Given the description of an element on the screen output the (x, y) to click on. 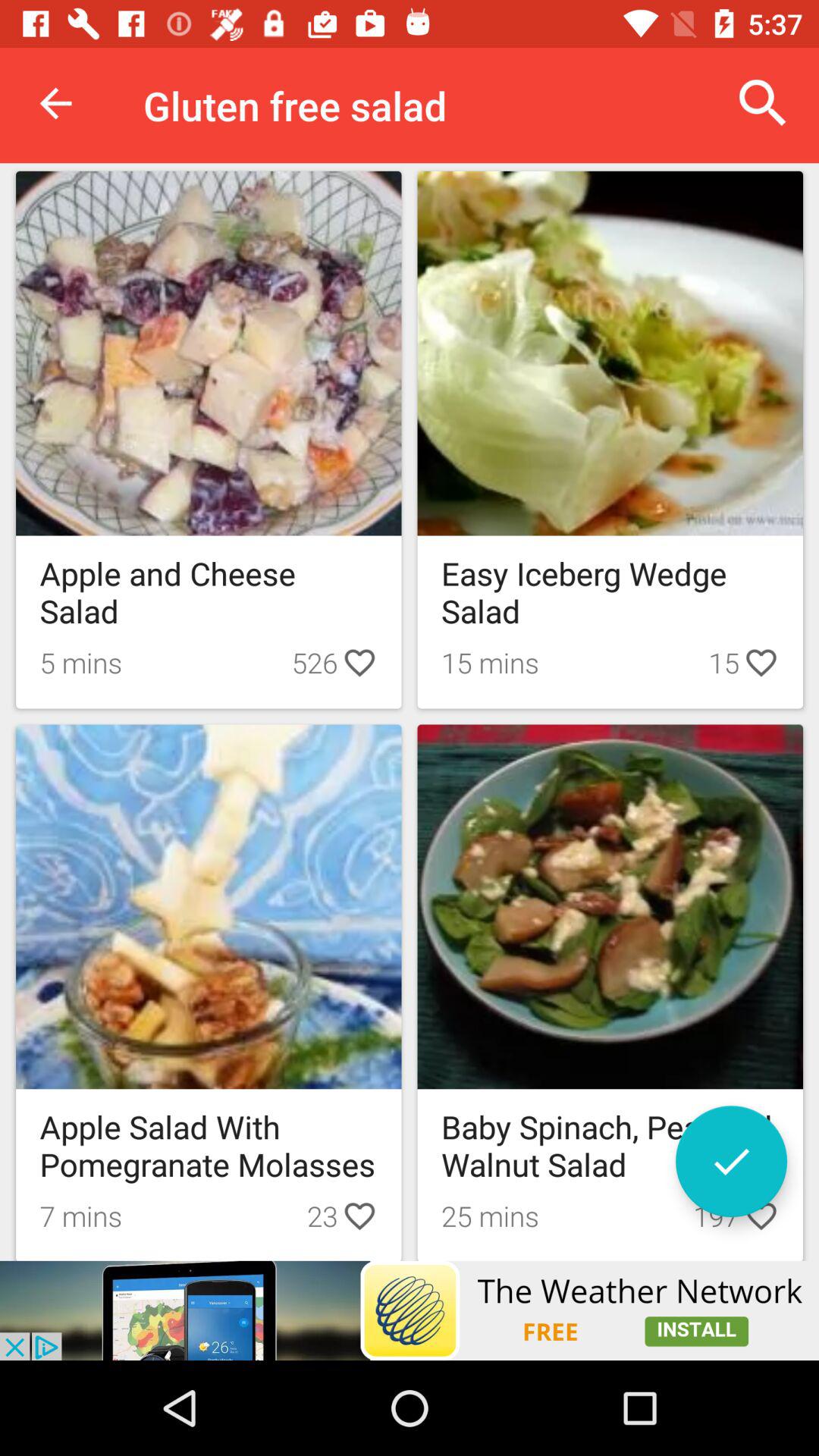
advertisement page (409, 1310)
